Given the description of an element on the screen output the (x, y) to click on. 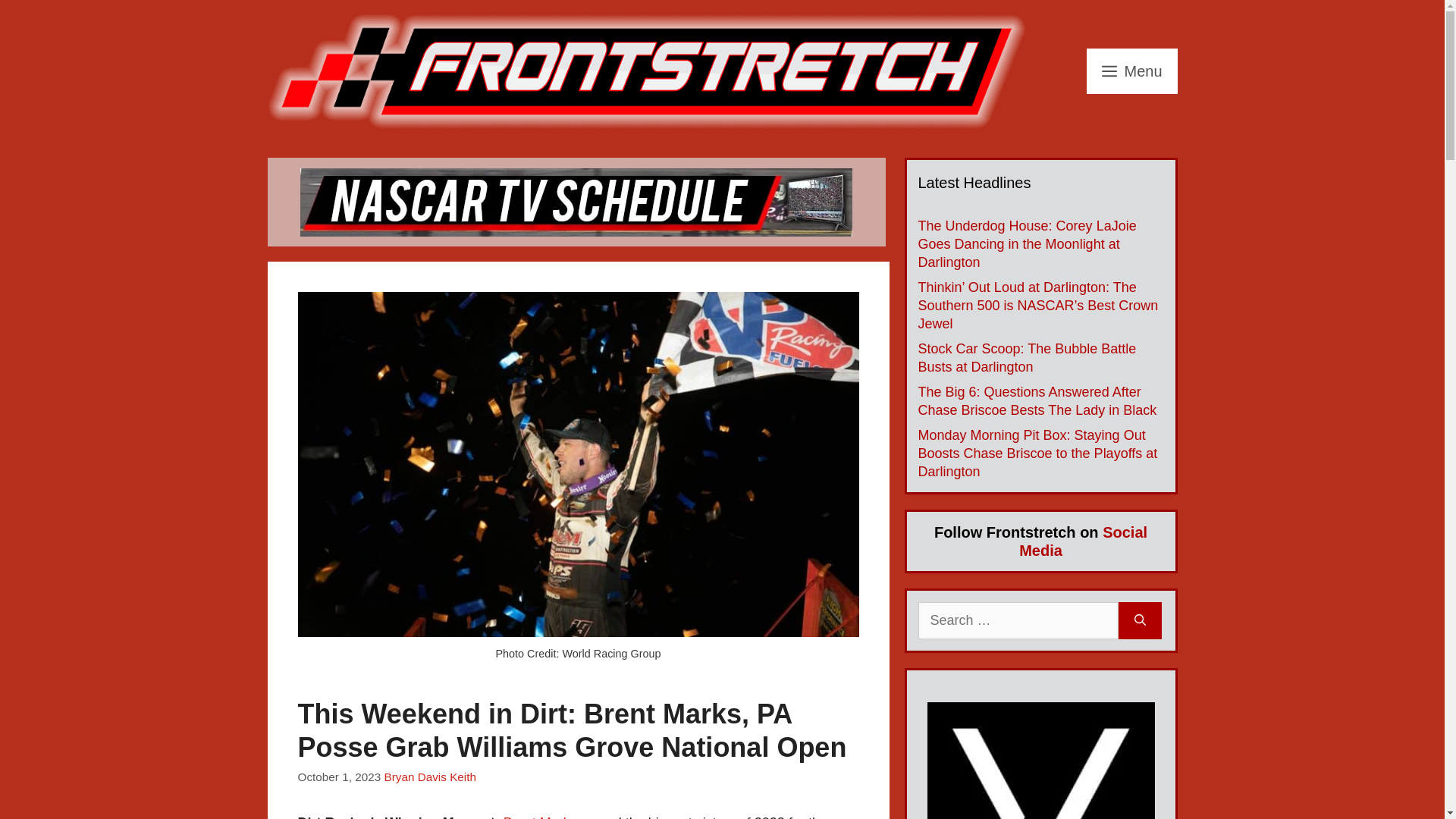
Menu (1131, 71)
Bryan Davis Keith (430, 776)
Brent Marks (539, 816)
Search for: (1017, 620)
